Given the description of an element on the screen output the (x, y) to click on. 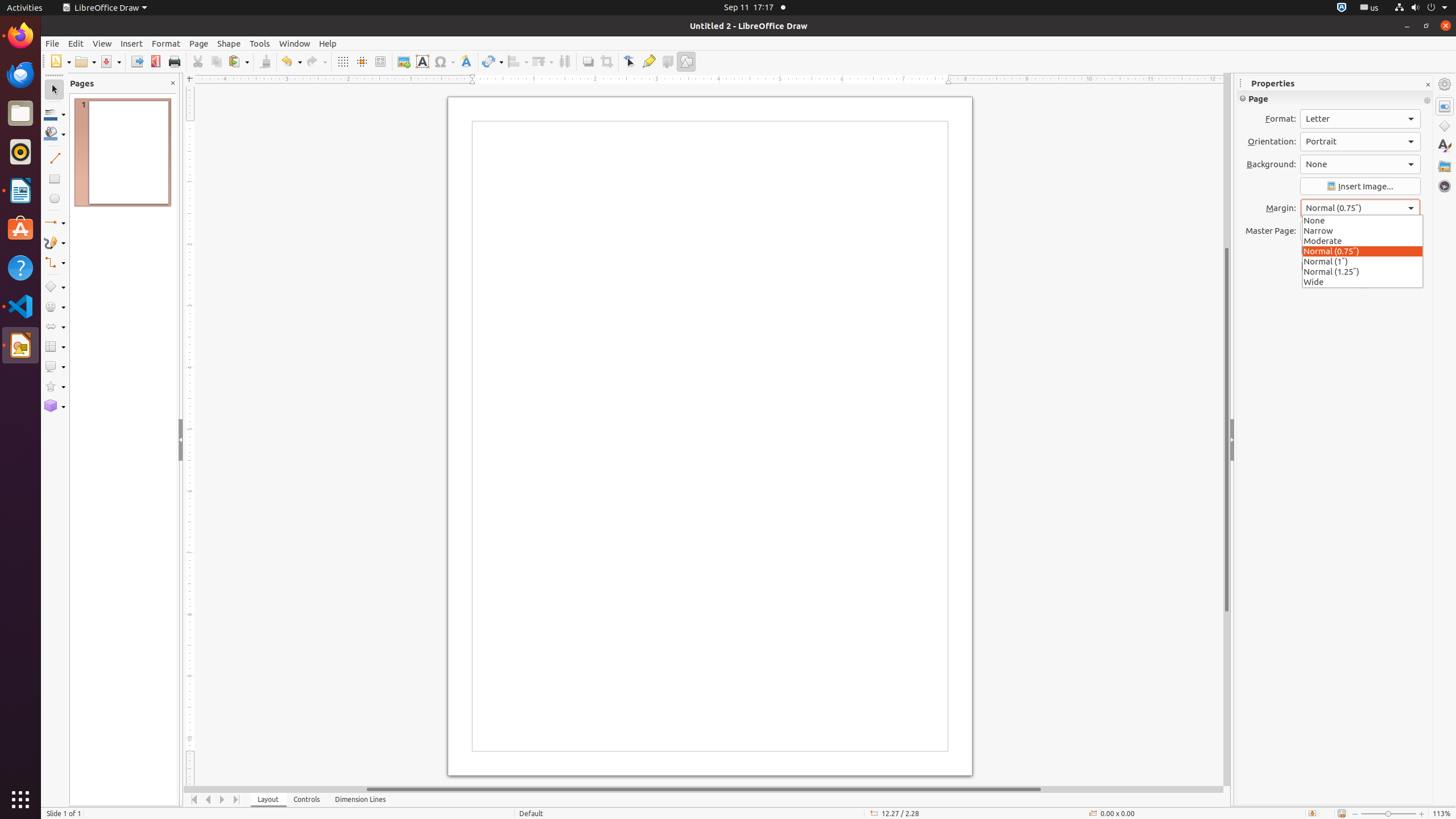
File Element type: menu (51, 43)
Format Element type: menu (165, 43)
Ellipse Element type: push-button (53, 198)
Toggle Extrusion Element type: push-button (667, 61)
More Options Element type: push-button (1426, 100)
